Given the description of an element on the screen output the (x, y) to click on. 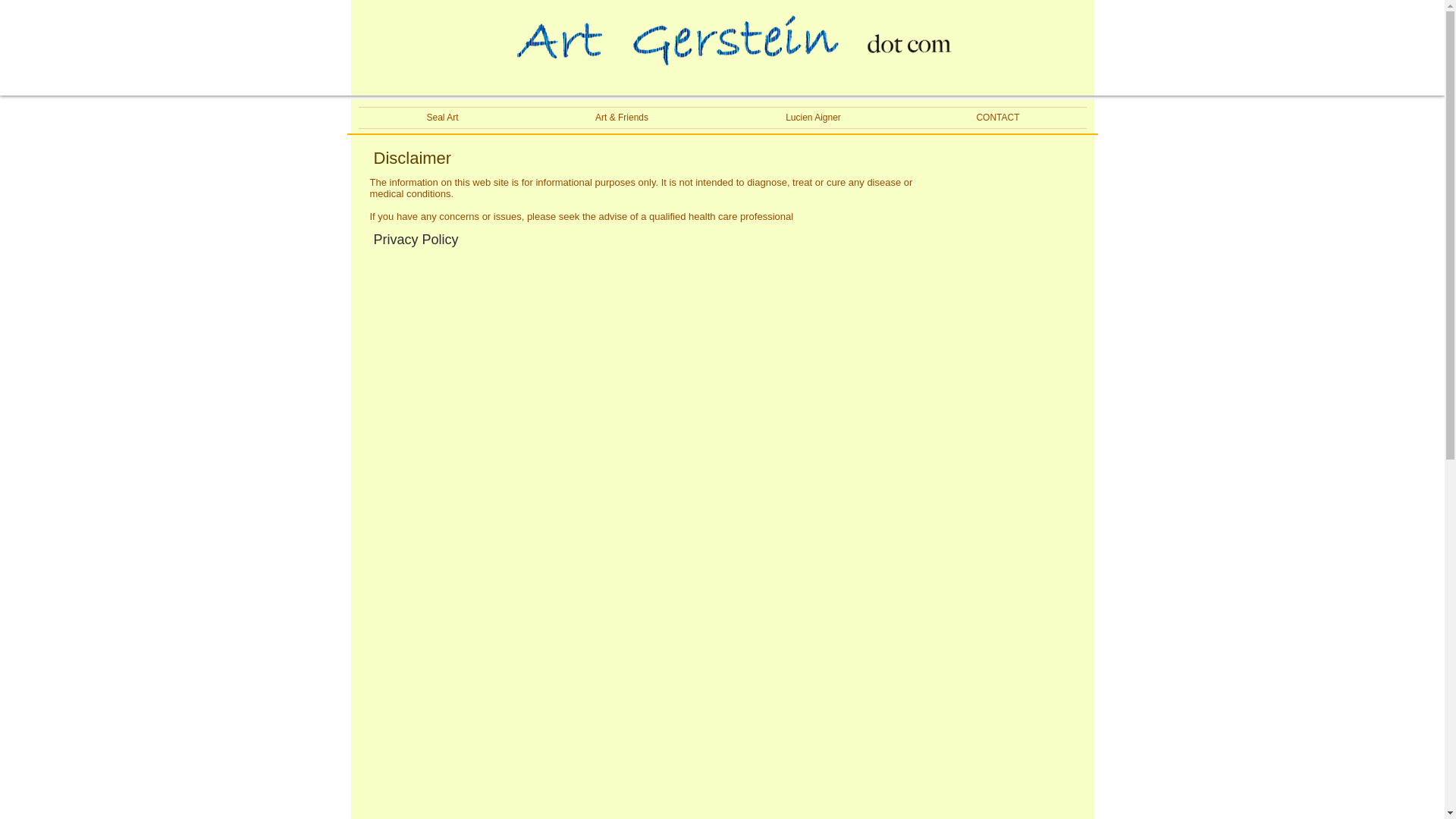
Lucien Aigner (813, 117)
ArtEnergyHealing-Logo.gif (733, 55)
Seal Art (441, 117)
CONTACT (998, 117)
